Given the description of an element on the screen output the (x, y) to click on. 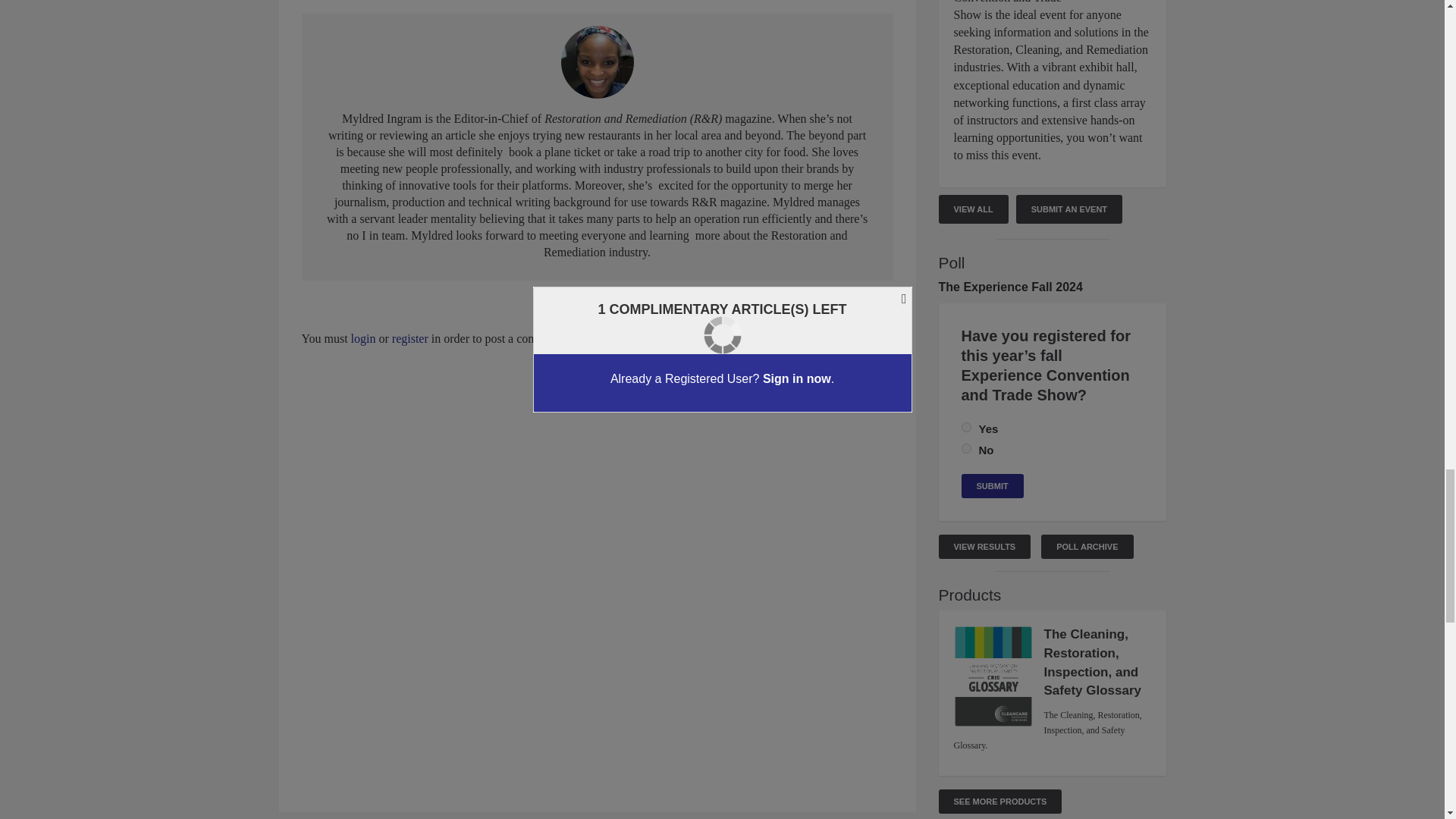
439 (965, 448)
Submit (991, 485)
438 (965, 427)
